Given the description of an element on the screen output the (x, y) to click on. 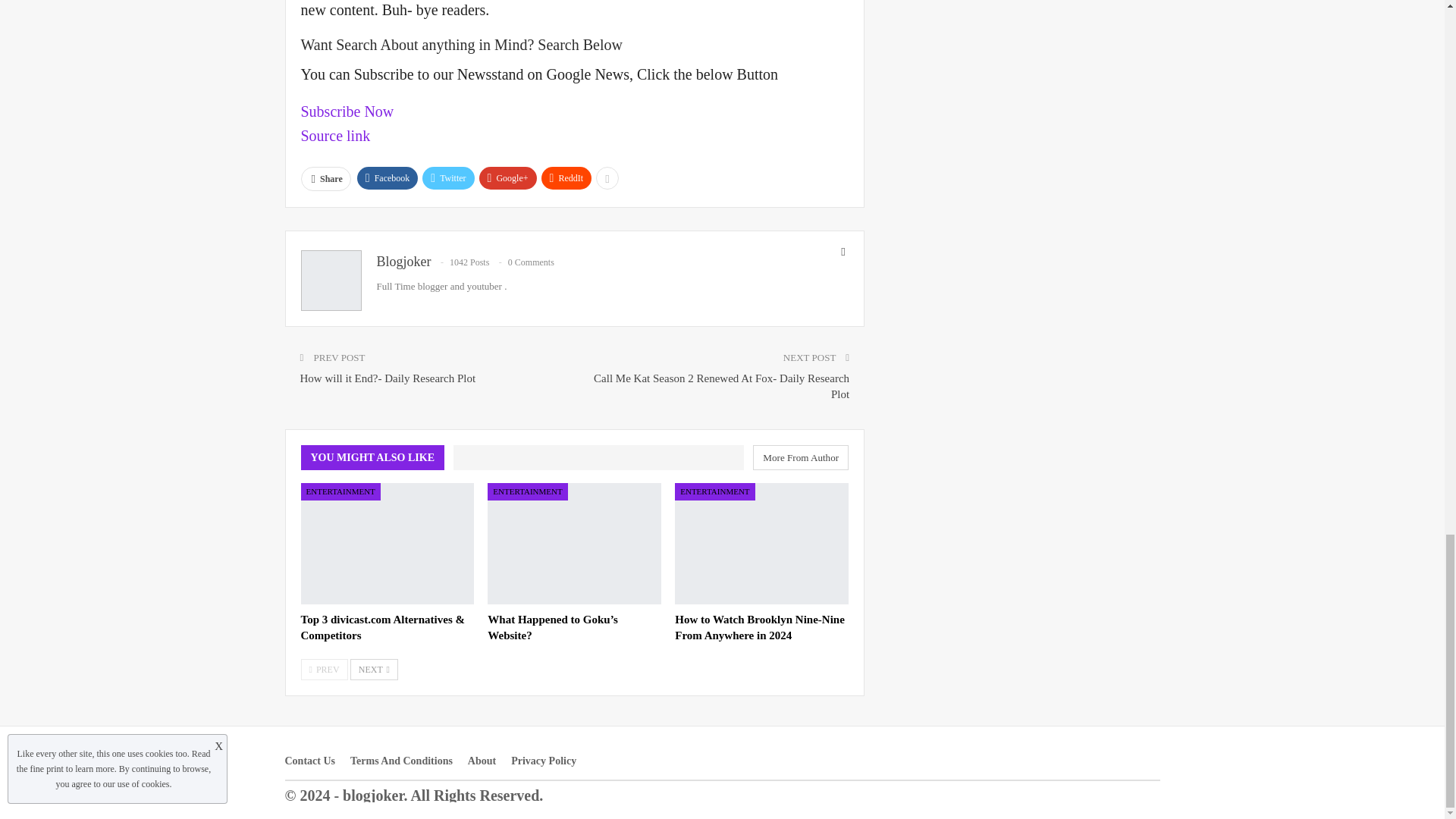
Subscribe Now (346, 111)
Previous (323, 669)
Twitter (448, 178)
Source link (334, 135)
Next (373, 669)
How to Watch Brooklyn Nine-Nine From Anywhere in 2024 (759, 627)
ReddIt (566, 178)
Facebook (387, 178)
How to Watch Brooklyn Nine-Nine From Anywhere in 2024 (761, 543)
